Given the description of an element on the screen output the (x, y) to click on. 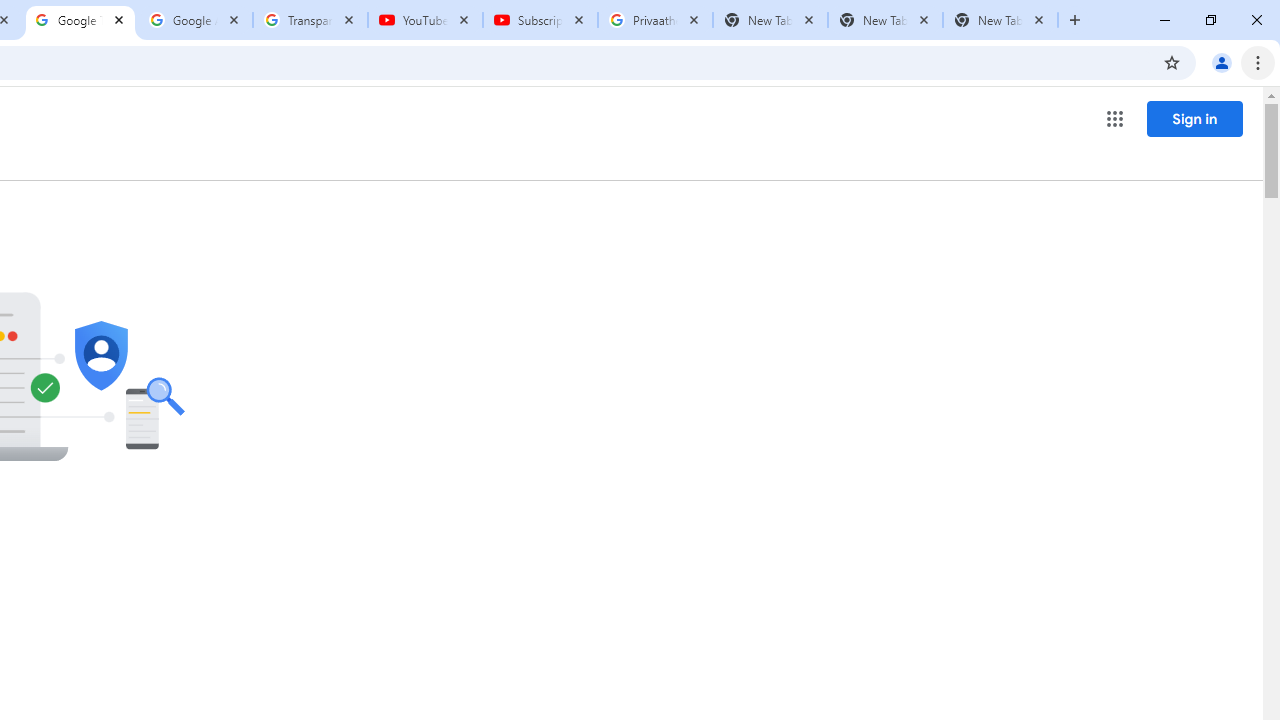
Subscriptions - YouTube (539, 20)
Google Account (195, 20)
YouTube (424, 20)
